Given the description of an element on the screen output the (x, y) to click on. 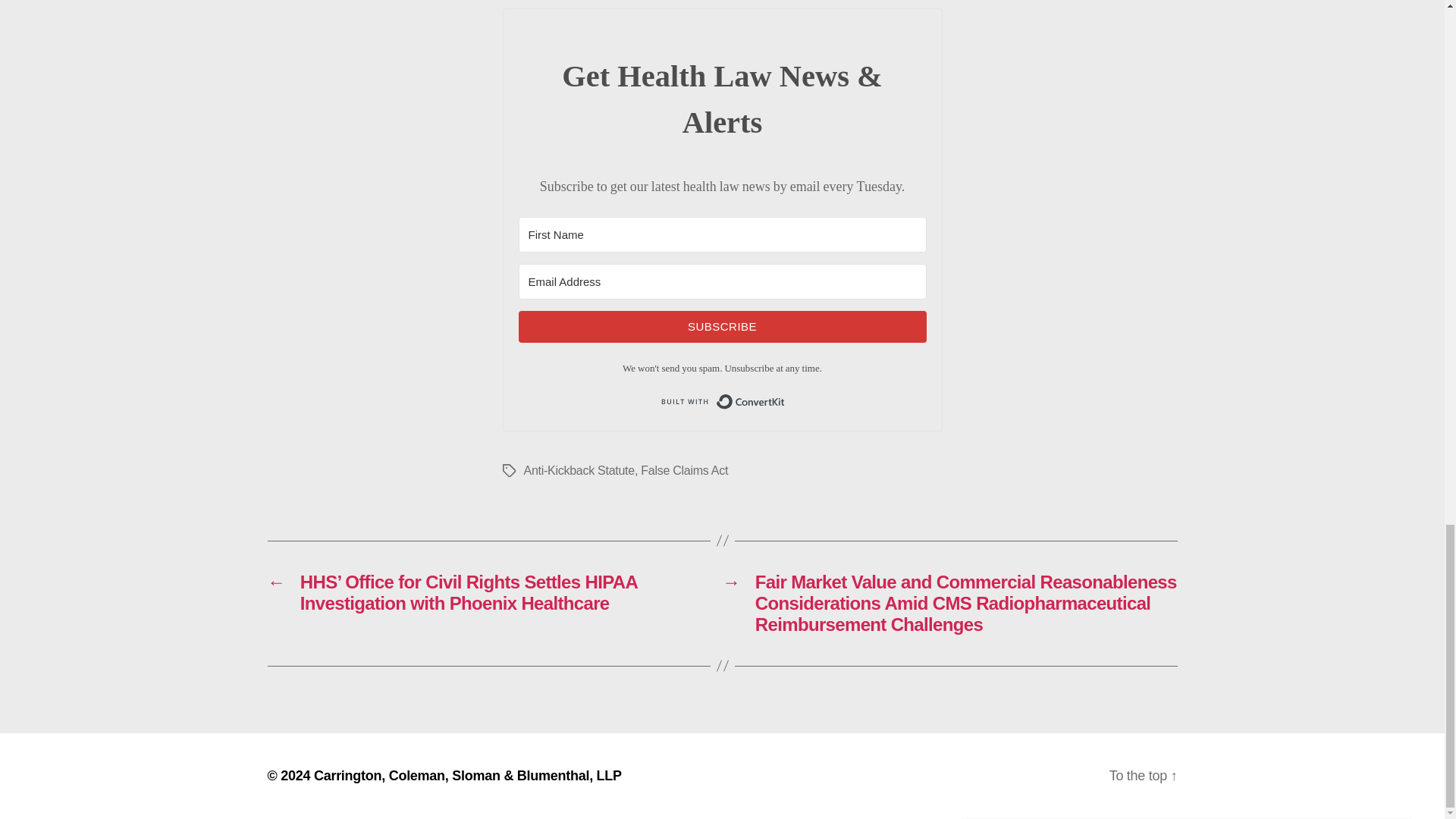
Anti-Kickback Statute (577, 470)
SUBSCRIBE (722, 327)
False Claims Act (684, 470)
Built with ConvertKit (722, 401)
